Given the description of an element on the screen output the (x, y) to click on. 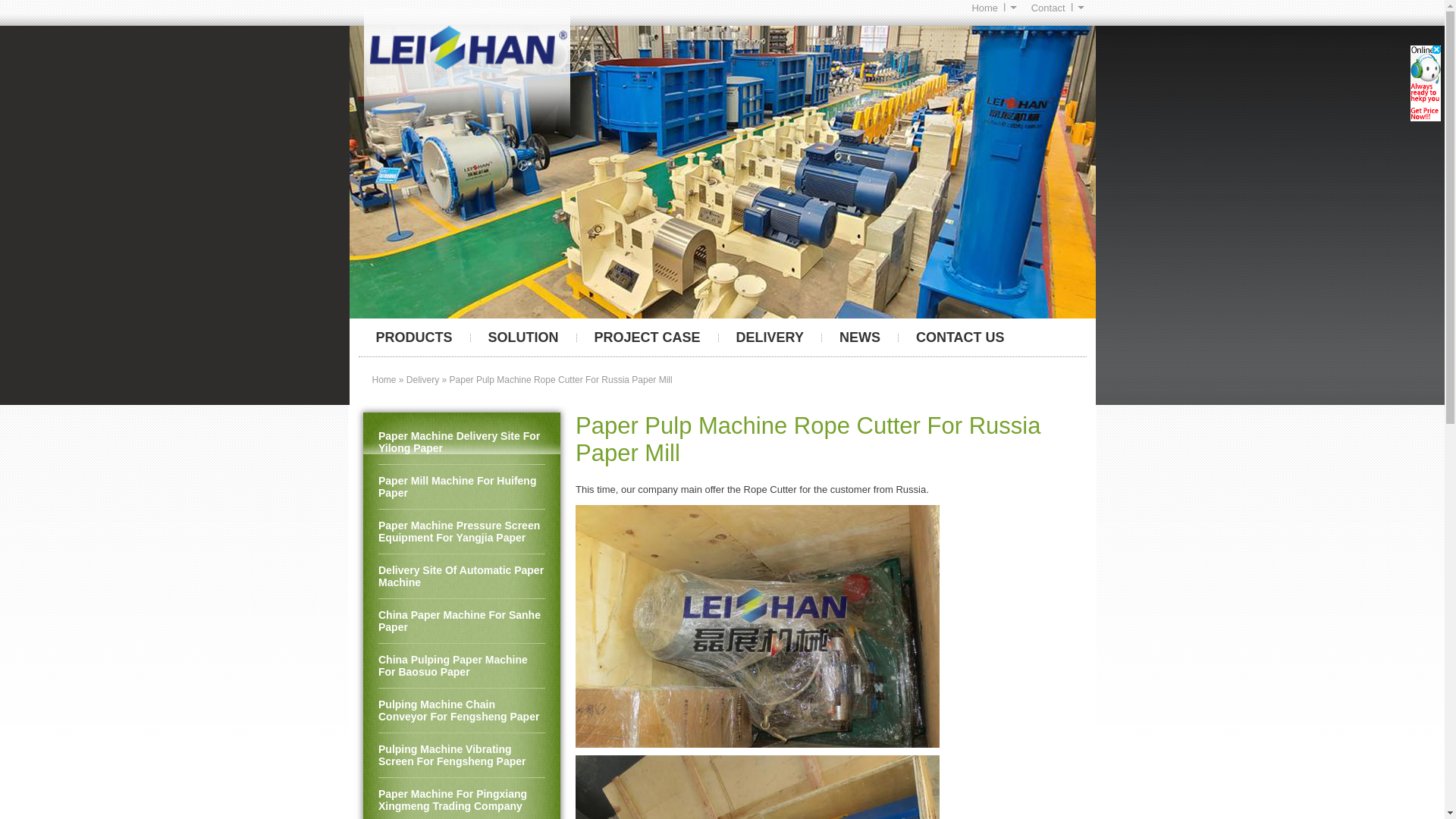
Contact (1057, 7)
PROJECT CASE (646, 337)
Home (993, 7)
Paper Machine For Pingxiang Xingmeng Trading Company (461, 798)
Pulping Machine Chain Conveyor For Fengsheng Paper (461, 710)
China Paper Machine For Sanhe Paper (461, 620)
Home (383, 379)
CONTACT US (960, 337)
NEWS (860, 337)
Paper Machine Delivery Site For Yilong Paper (461, 442)
Pulping Machine Vibrating Screen For Fengsheng Paper (461, 755)
Paper Machine Pressure Screen Equipment For Yangjia Paper (461, 531)
Solution (523, 337)
Delivery (770, 337)
Delivery (422, 379)
